Given the description of an element on the screen output the (x, y) to click on. 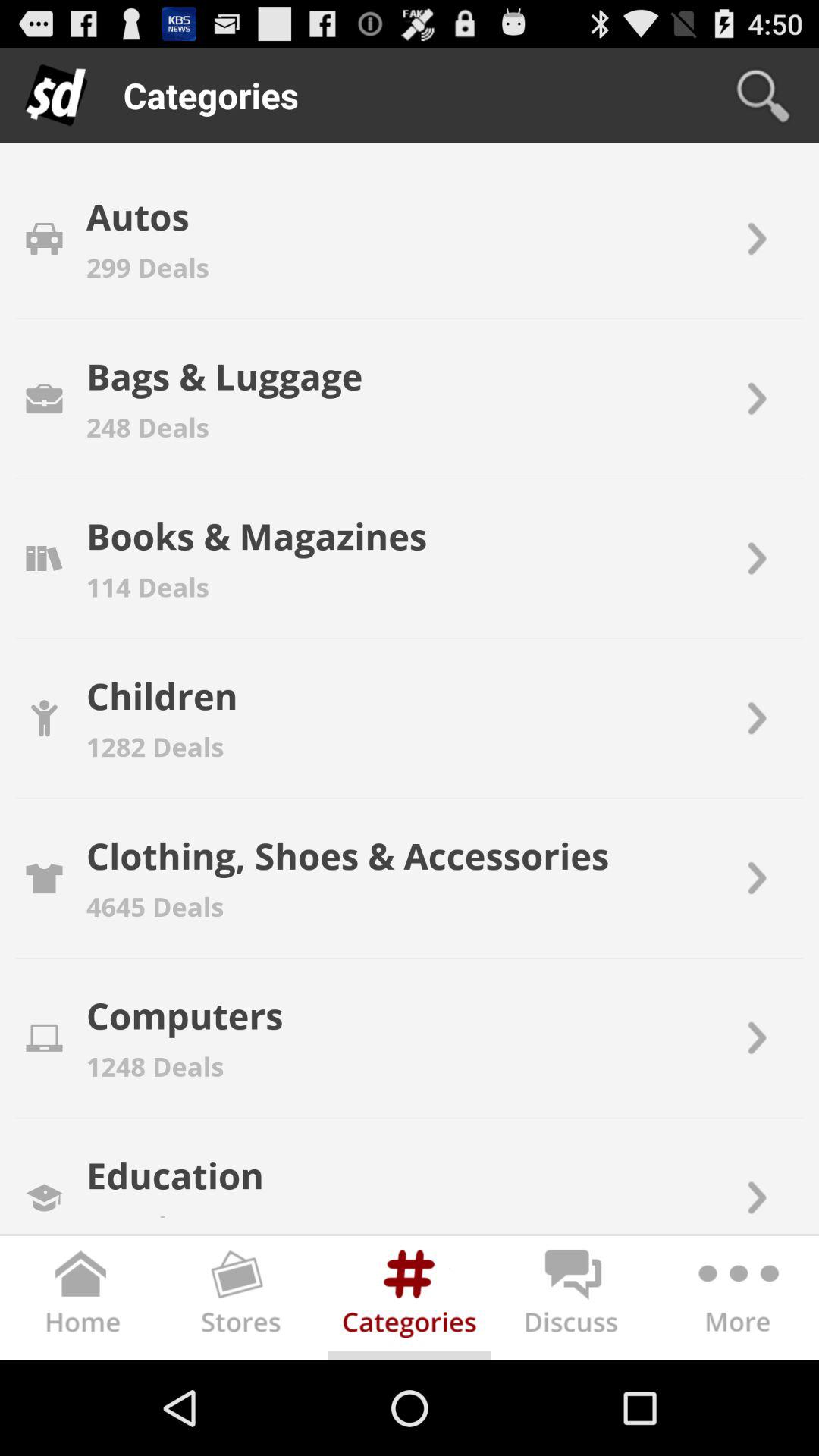
turn off 114 deals app (147, 586)
